Given the description of an element on the screen output the (x, y) to click on. 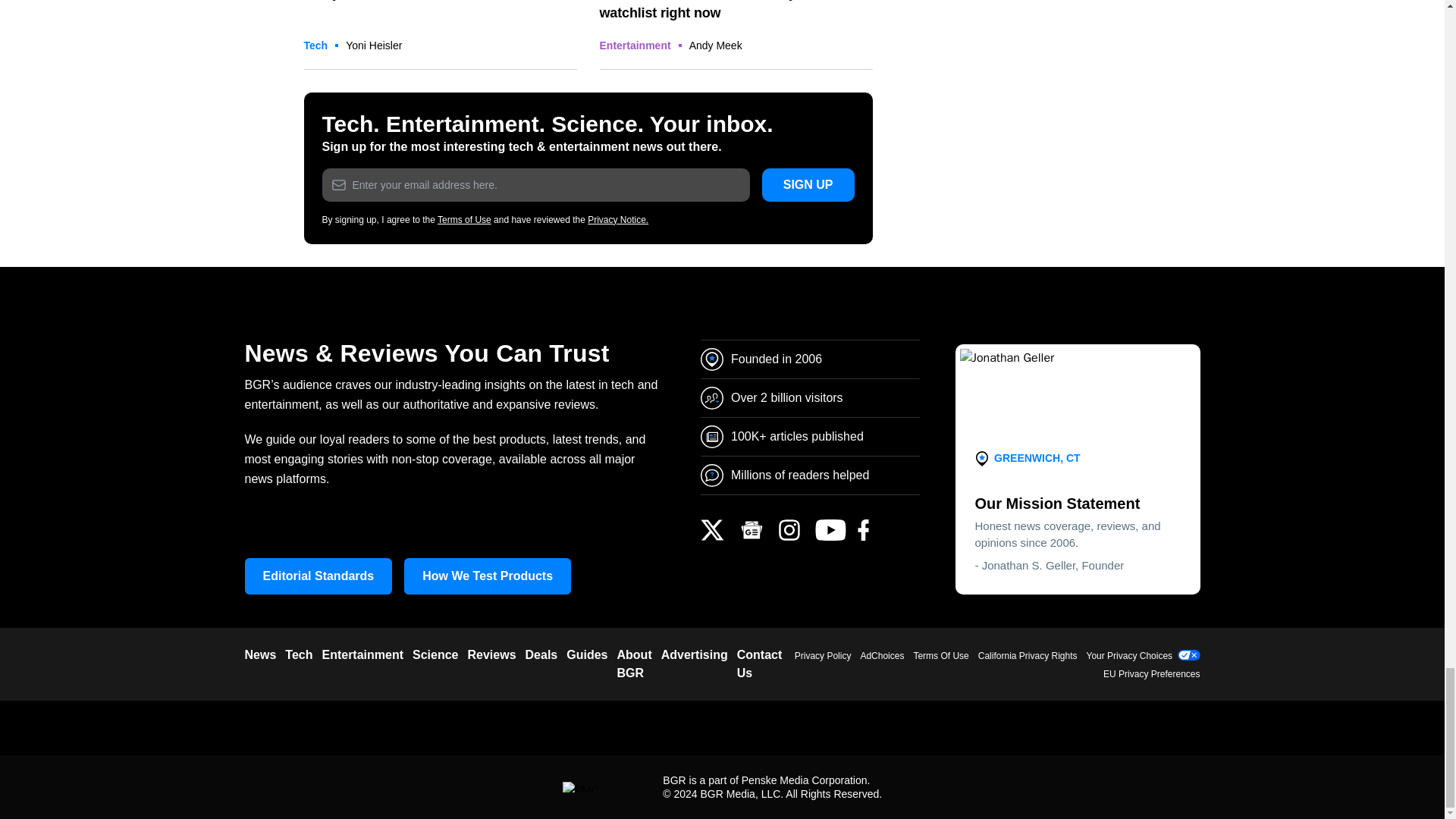
Posts by Andy Meek (715, 45)
Posts by Yoni Heisler (373, 45)
